Given the description of an element on the screen output the (x, y) to click on. 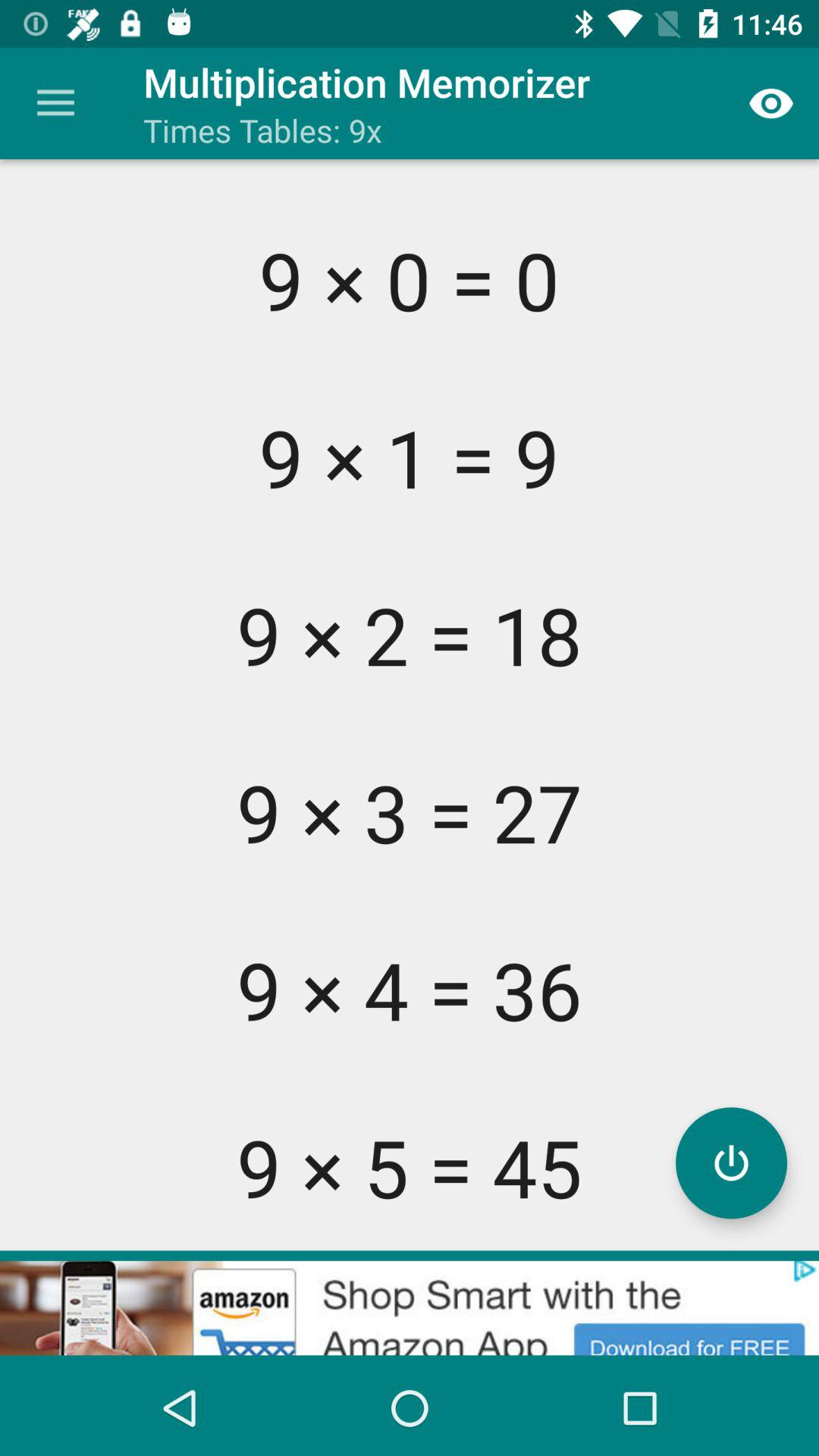
power on/off (731, 1162)
